Given the description of an element on the screen output the (x, y) to click on. 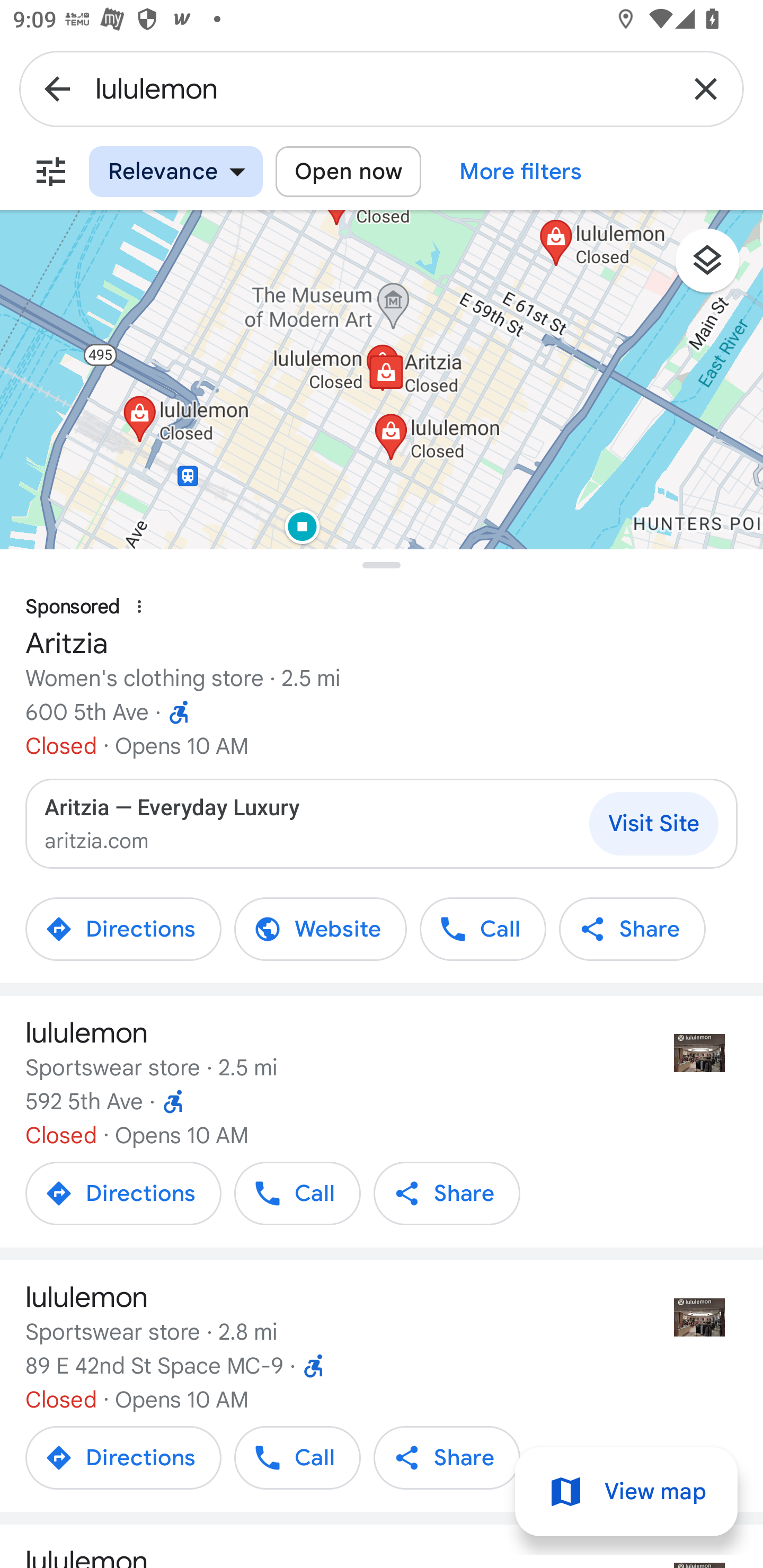
Back (57, 88)
lululemon (381, 88)
Clear (705, 88)
More filters (50, 171)
Relevance Relevance Relevance (175, 171)
Open now Open now Open now (348, 171)
More filters More filters More filters (521, 171)
Layers (716, 267)
Re-center map to your location (702, 604)
About this ad (139, 606)
Aritzia — Everyday Luxury aritzia.com Visit Site (381, 823)
Website (320, 928)
Share Aritzia Share Share Aritzia (632, 928)
Share lululemon Share Share lululemon (446, 1192)
Share lululemon Share Share lululemon (446, 1457)
View map Map view (626, 1491)
